Given the description of an element on the screen output the (x, y) to click on. 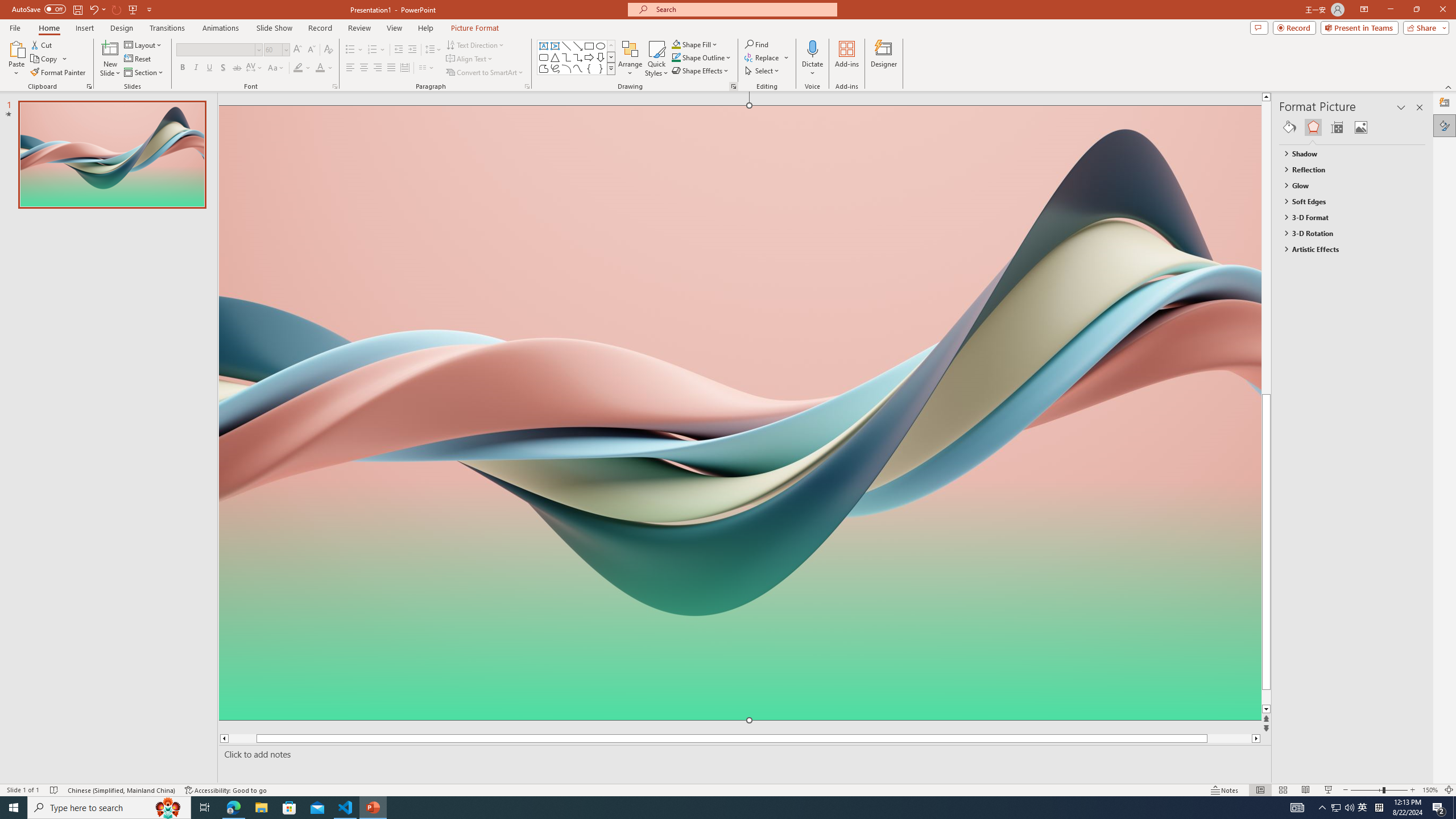
Class: NetUIGalleryContainer (1352, 126)
